Given the description of an element on the screen output the (x, y) to click on. 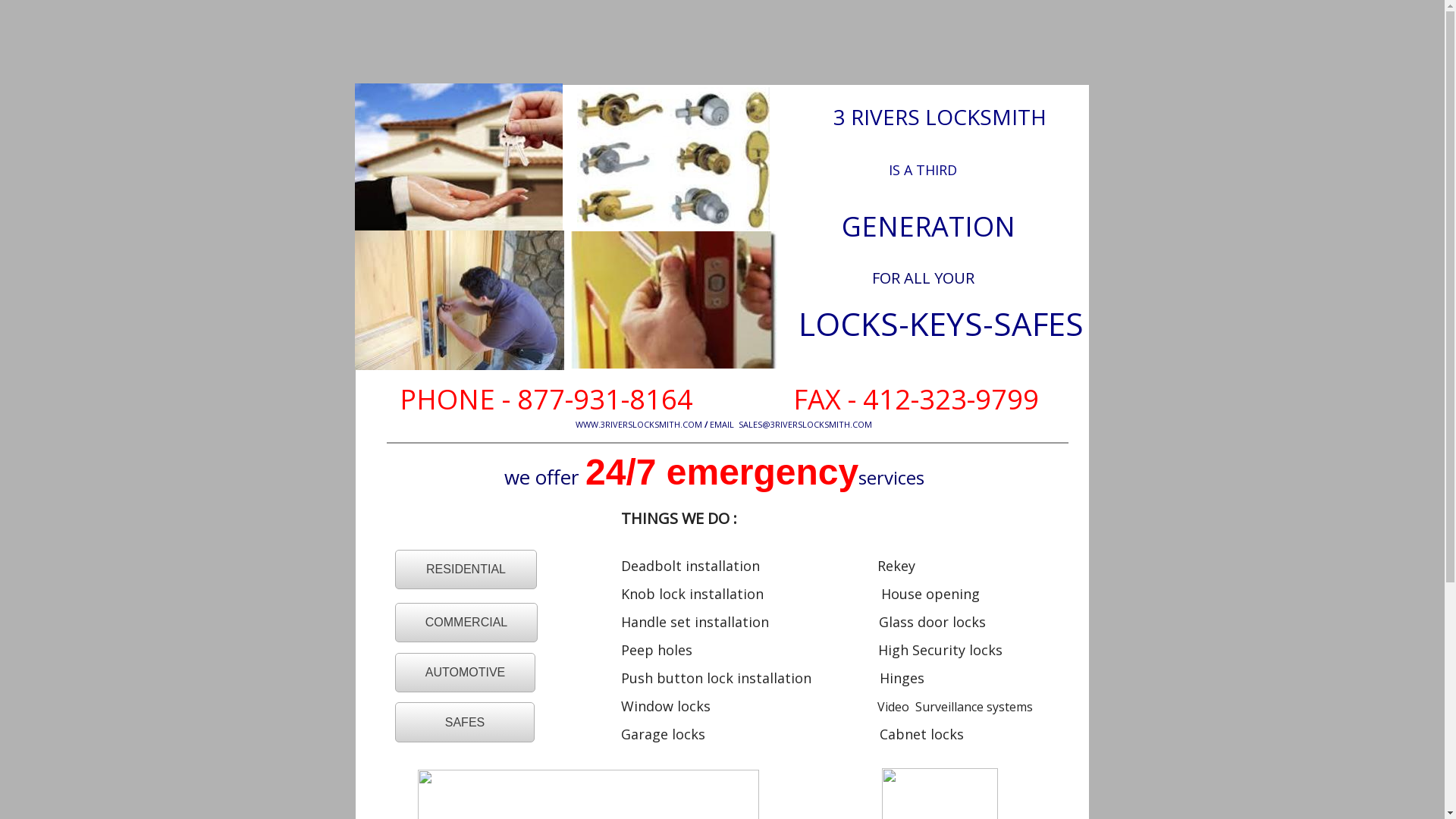
AUTOMOTIVE Element type: text (465, 672)
RESIDENTIAL Element type: text (465, 569)
SAFES Element type: text (464, 722)
COMMERCIAL Element type: text (466, 622)
